Given the description of an element on the screen output the (x, y) to click on. 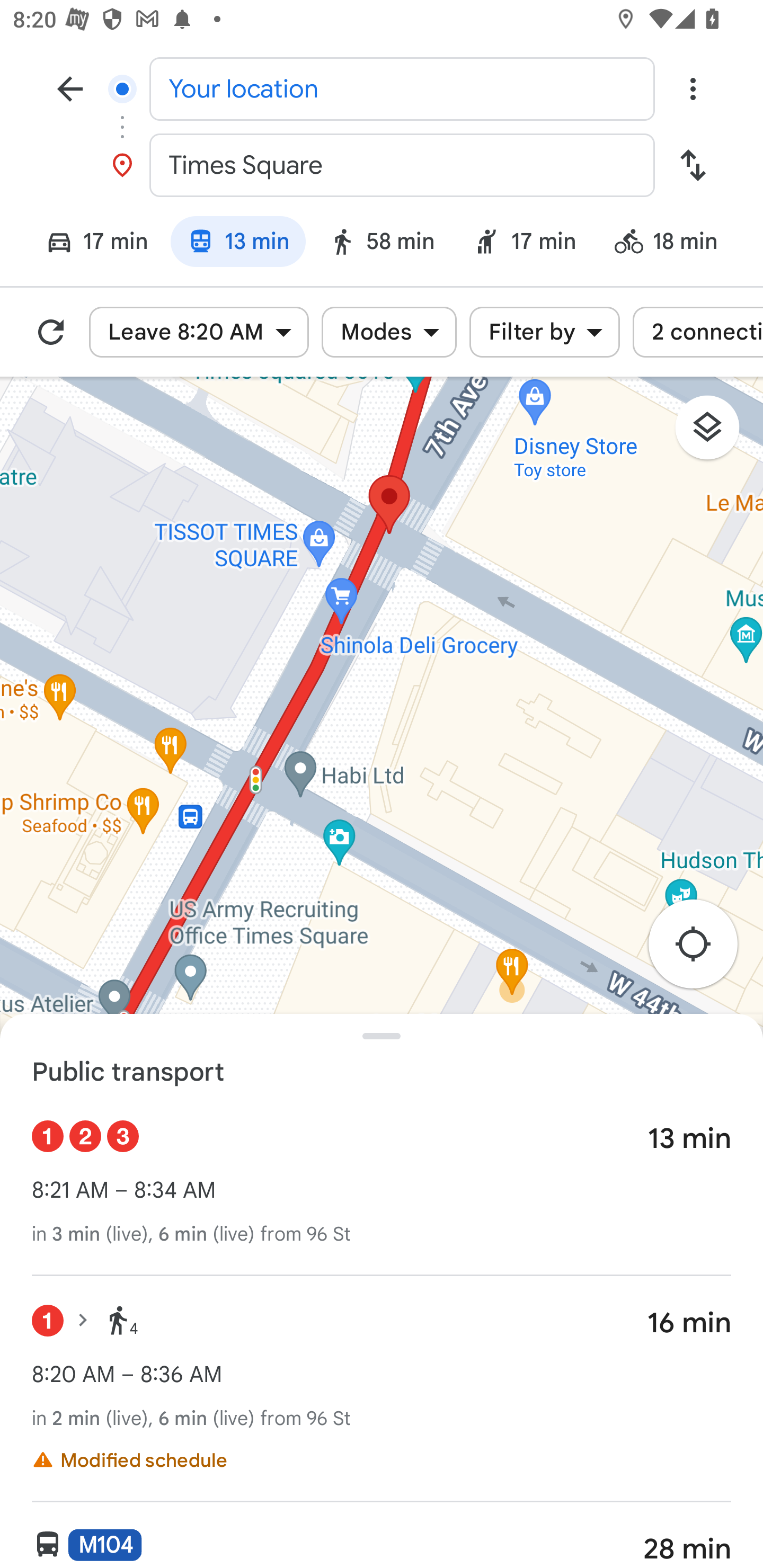
Navigate up (70, 88)
Your location Start location, Your location (381, 88)
Overflow menu (692, 88)
Times Square Destination, Times Square (381, 165)
Swap start and destination (692, 165)
Driving mode: 17 min 17 min (88, 244)
Walking mode: 58 min 58 min (381, 244)
Ride service: 17 min 17 min (524, 244)
Bicycling mode: 18 min 18 min (674, 244)
Refresh (50, 332)
Leave 8:20 AM Leave 8:20 AM Leave 8:20 AM (199, 332)
Modes Modes Modes (389, 332)
Filter by Filter by Filter by (544, 332)
Layers (716, 433)
Re-center map to your location (702, 949)
